Given the description of an element on the screen output the (x, y) to click on. 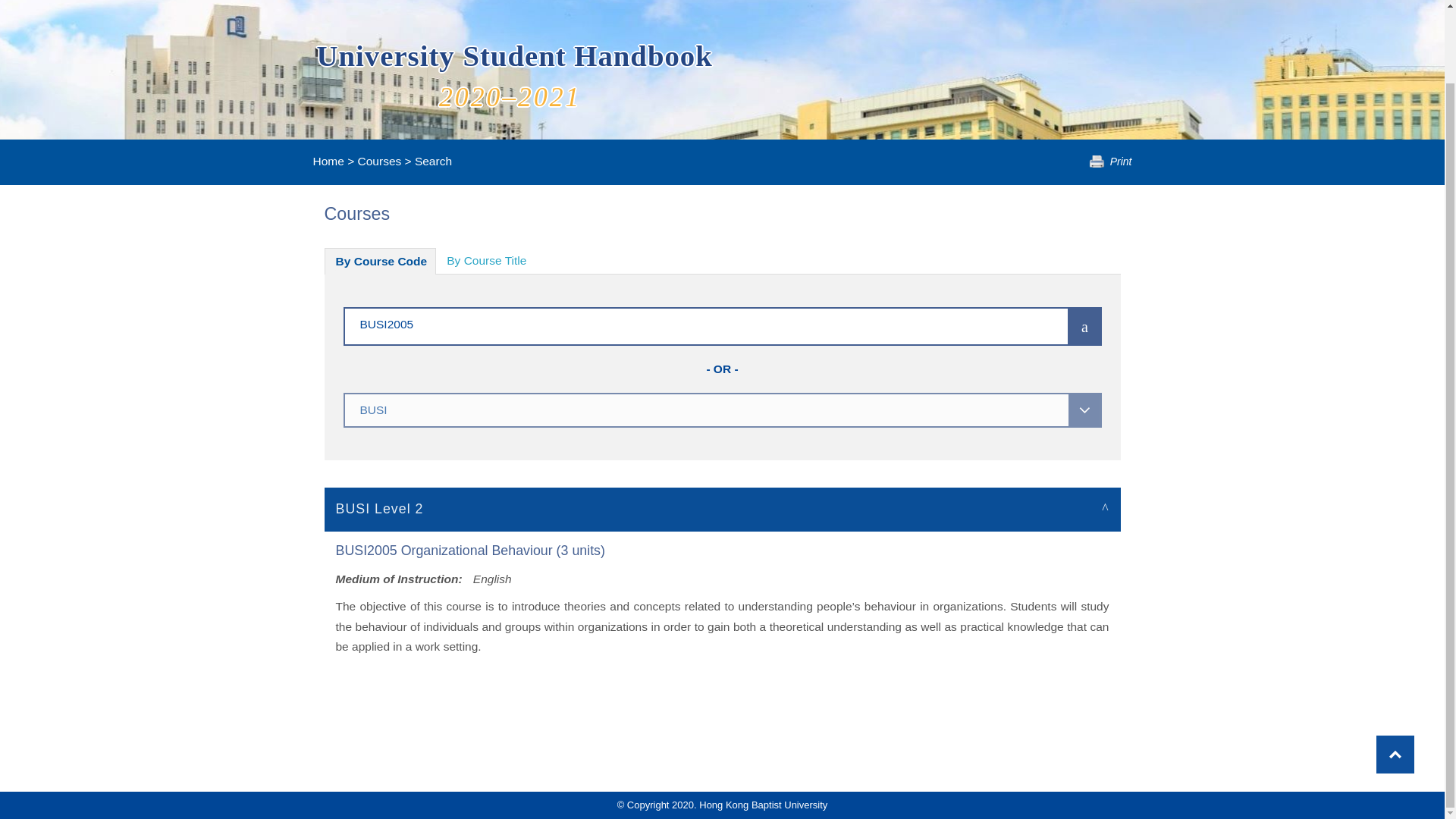
Courses (379, 160)
BUSI Level 2 (722, 508)
BUSI2005 (683, 322)
Scroll To Top (1394, 672)
Print (1110, 161)
Scroll To Top (1394, 672)
BUSI2005 (683, 322)
Scroll To Top (1394, 672)
By Course Code (381, 261)
Home (328, 160)
By Course Title (486, 260)
